Given the description of an element on the screen output the (x, y) to click on. 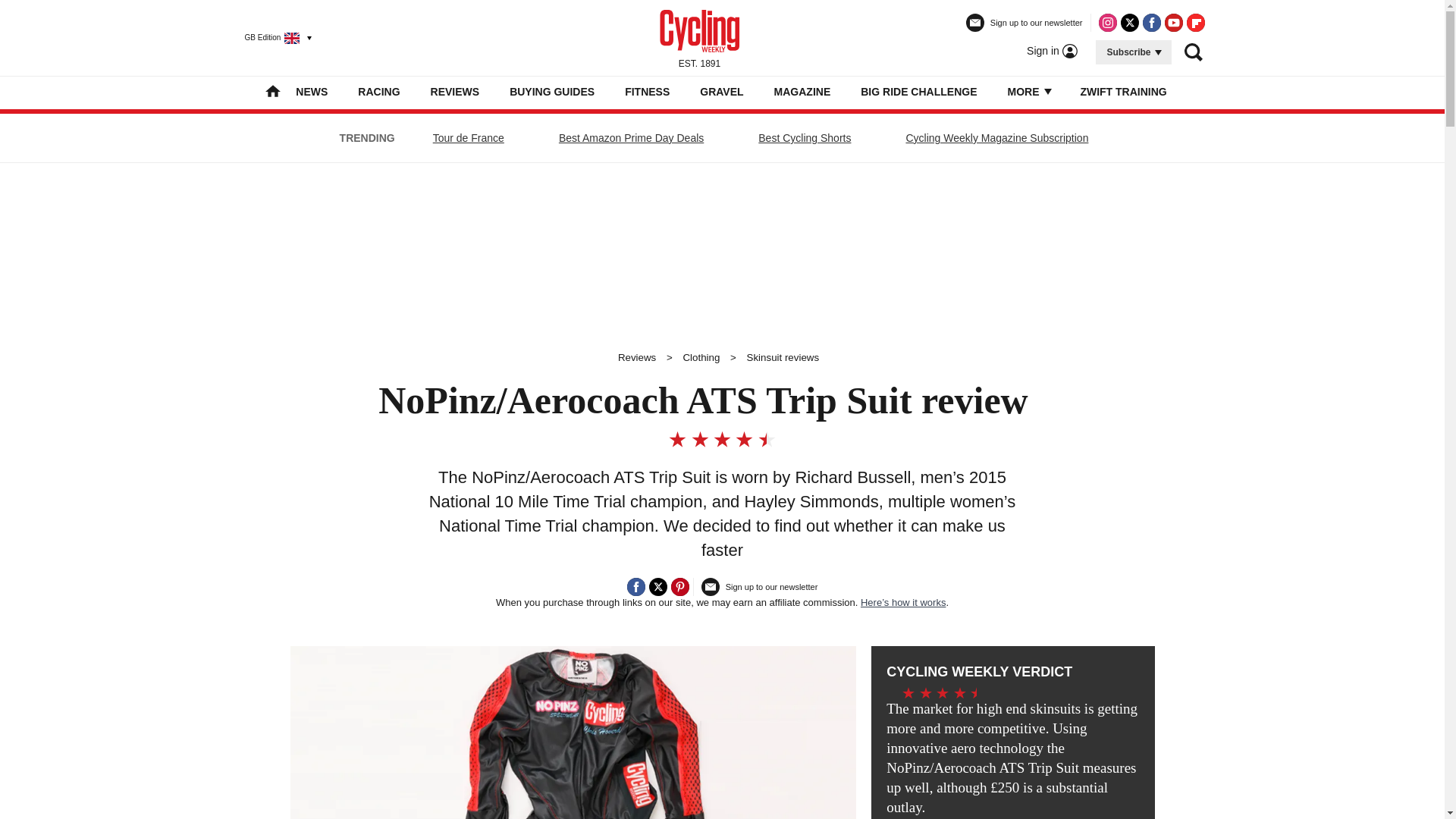
Sign up to our newsletter (1024, 28)
BUYING GUIDES (551, 91)
ZWIFT TRAINING (1123, 91)
Best Amazon Prime Day Deals (631, 137)
RACING (378, 91)
Tour de France (468, 137)
Clothing (700, 357)
MAGAZINE (802, 91)
REVIEWS (455, 91)
Best Cycling Shorts (804, 137)
Skinsuit reviews (782, 357)
GRAVEL (721, 91)
NEWS (311, 91)
BIG RIDE CHALLENGE (918, 91)
GB Edition (271, 37)
